Given the description of an element on the screen output the (x, y) to click on. 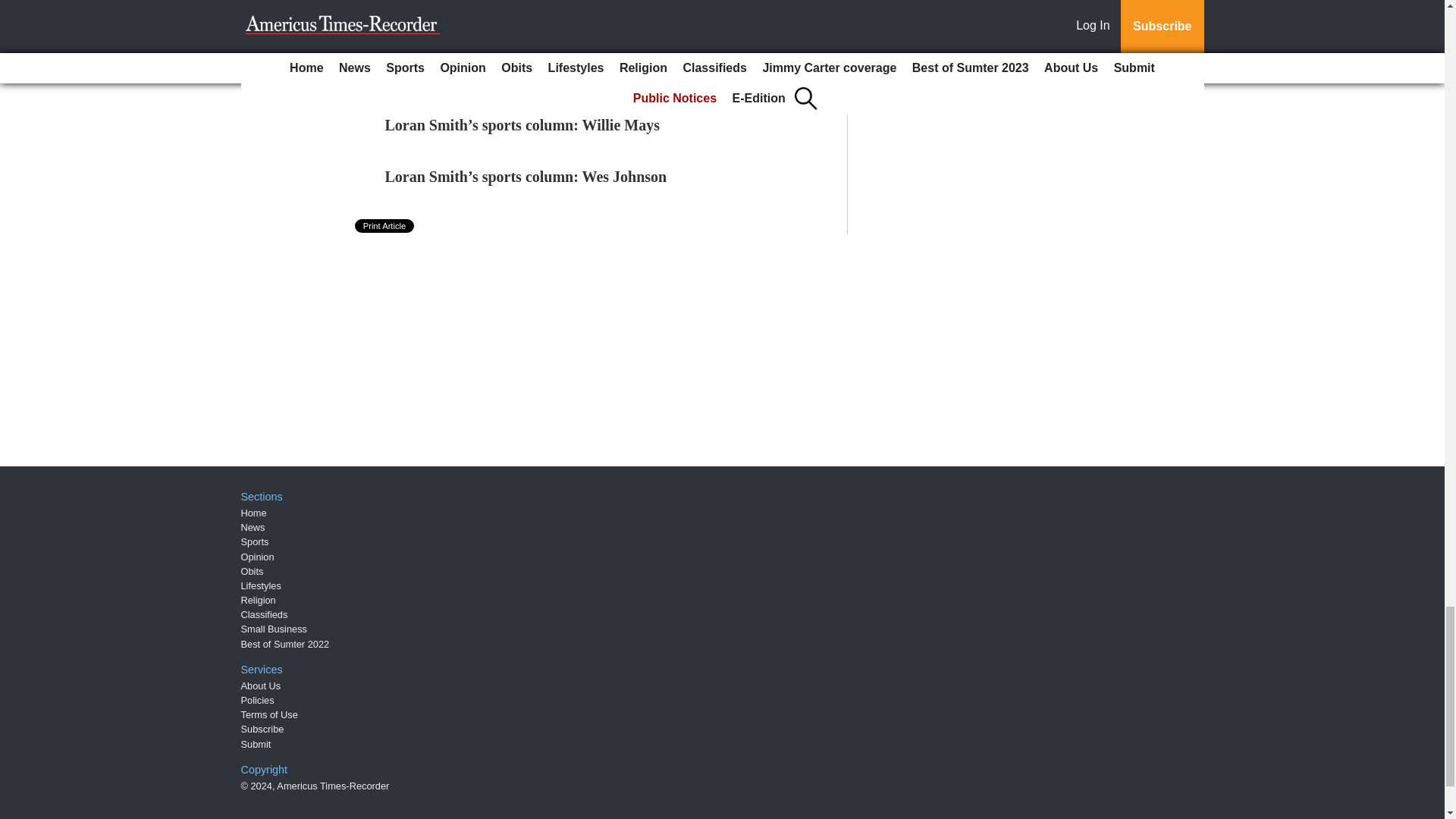
Obits (252, 571)
News (252, 527)
Classifieds (264, 614)
Print Article (384, 225)
Home (253, 512)
Lifestyles (261, 585)
Sports (255, 541)
Policies (258, 699)
Religion (258, 600)
Privilege: An Editorial (458, 73)
Small Business (274, 628)
About Us (261, 685)
Opinion (258, 556)
Best of Sumter 2022 (285, 644)
Privilege: An Editorial (458, 73)
